Given the description of an element on the screen output the (x, y) to click on. 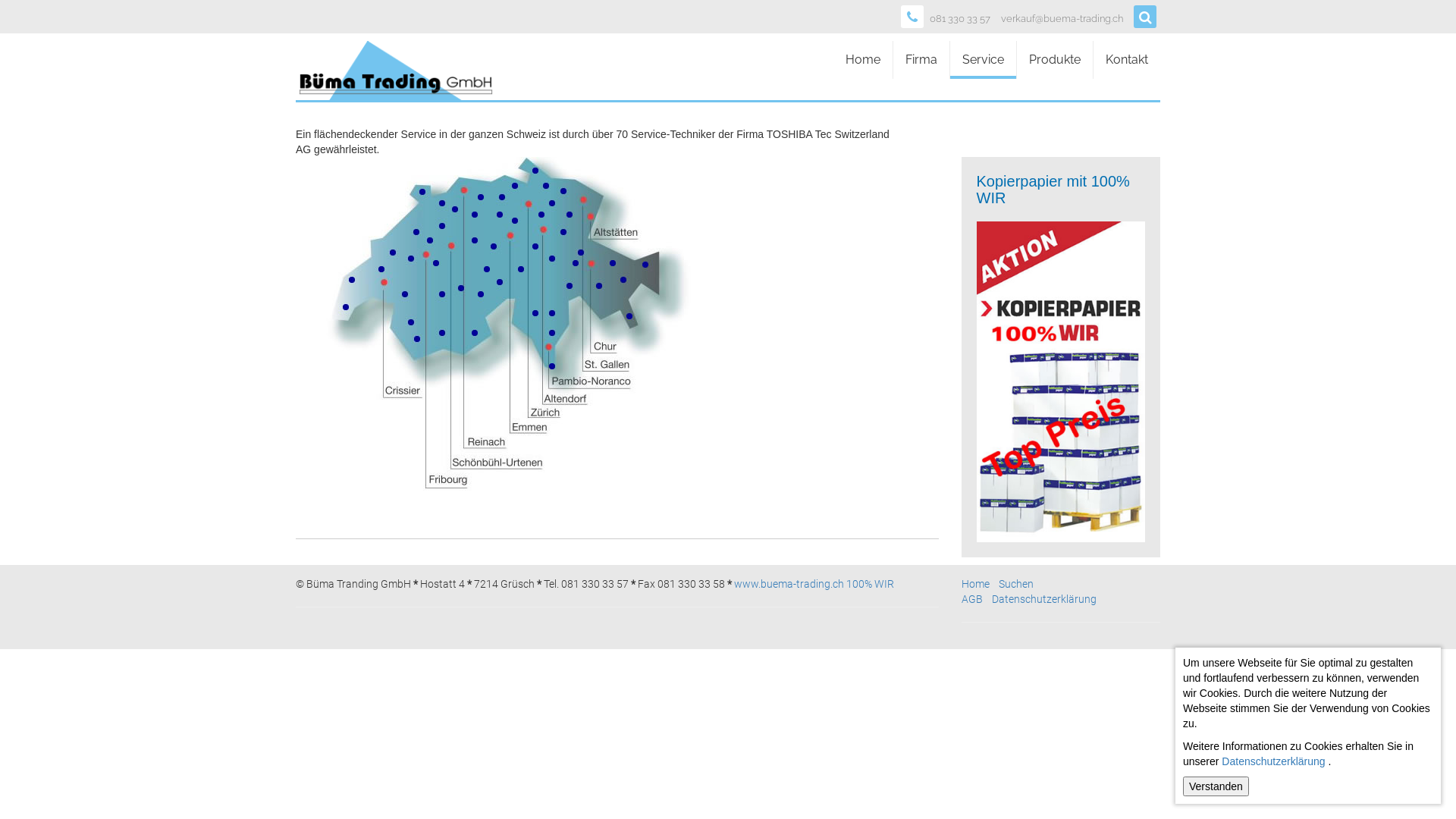
AGB Element type: text (971, 599)
Home Element type: text (862, 59)
Verstanden Element type: text (1215, 786)
Kontakt Element type: text (1126, 59)
verkauf@buema-trading.ch Element type: text (1062, 19)
Firma Element type: text (921, 59)
Produkte Element type: text (1054, 59)
Service Element type: text (983, 59)
Suchen Element type: text (1014, 583)
100% WIR Element type: text (870, 583)
www.buema-trading.ch Element type: text (789, 583)
Home Element type: text (975, 583)
